Given the description of an element on the screen output the (x, y) to click on. 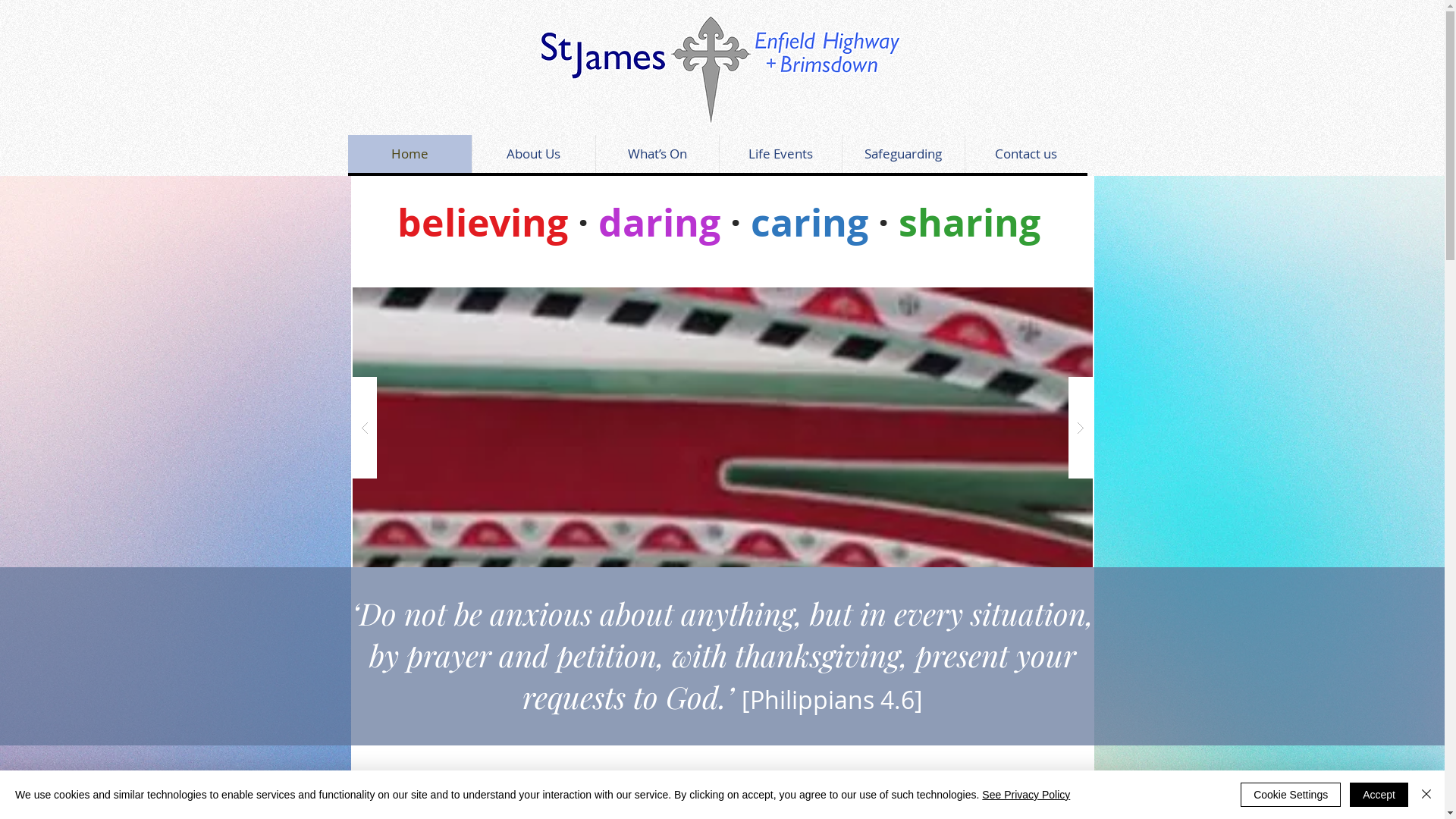
See Privacy Policy Element type: text (1026, 794)
Contact us Element type: text (1025, 153)
Accept Element type: text (1378, 794)
Cookie Settings Element type: text (1290, 794)
Home Element type: text (408, 153)
Safeguarding Element type: text (902, 153)
About Us Element type: text (533, 153)
